Given the description of an element on the screen output the (x, y) to click on. 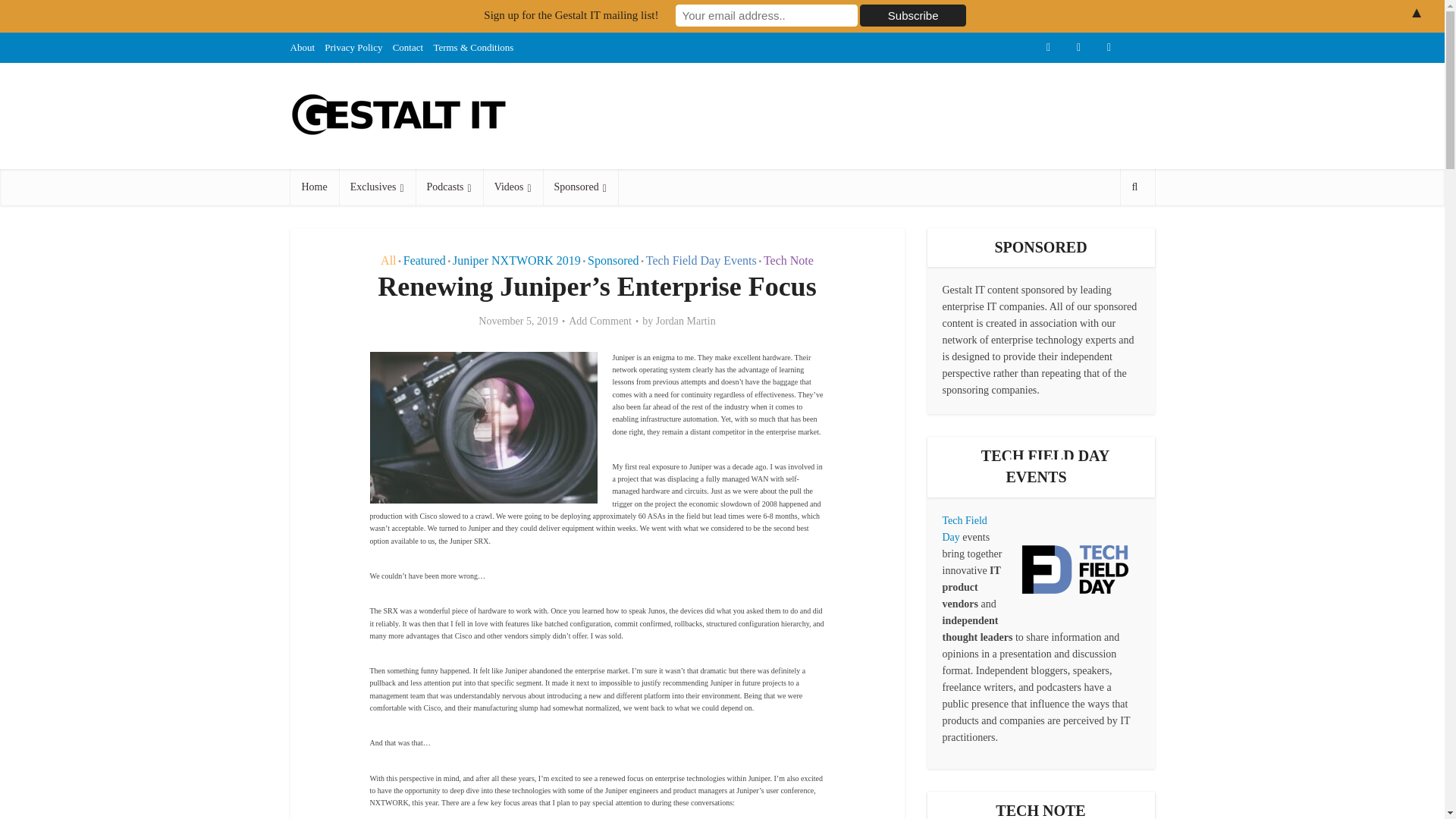
Contact (408, 47)
Exclusives (376, 186)
About (301, 47)
Privacy Policy (352, 47)
Subscribe (913, 15)
Videos (513, 186)
Sponsored (580, 186)
Home (313, 186)
Podcasts (448, 186)
